Given the description of an element on the screen output the (x, y) to click on. 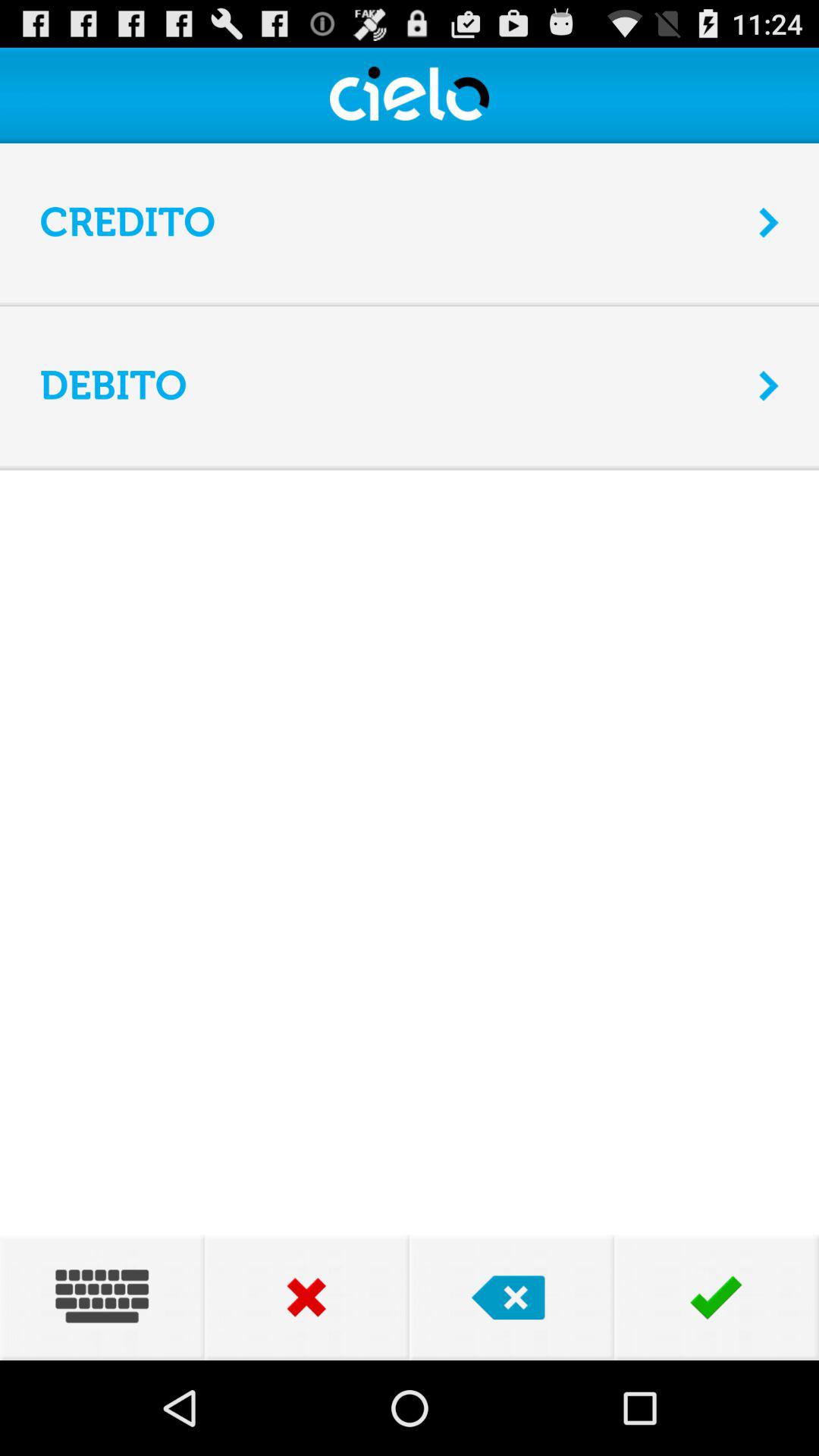
tap item above the debito (409, 305)
